Given the description of an element on the screen output the (x, y) to click on. 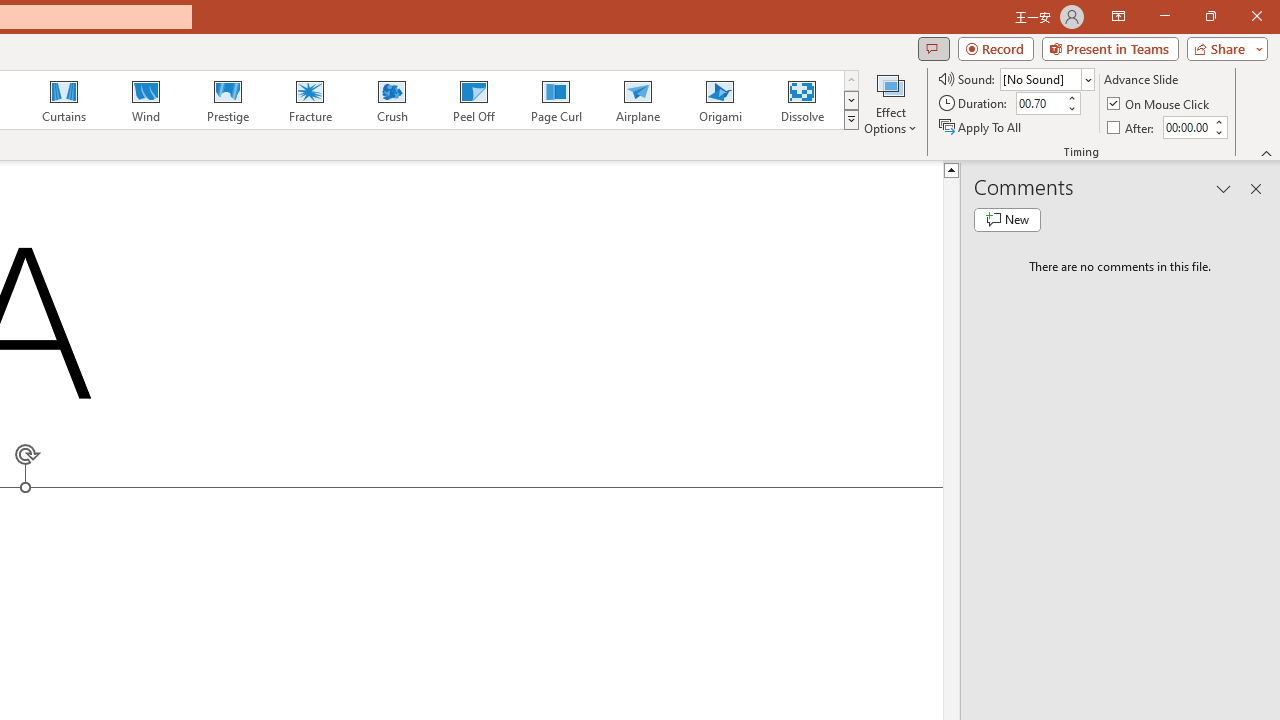
On Mouse Click (1159, 103)
Transition Effects (850, 120)
Fracture (309, 100)
Airplane (637, 100)
Sound (1046, 78)
